Given the description of an element on the screen output the (x, y) to click on. 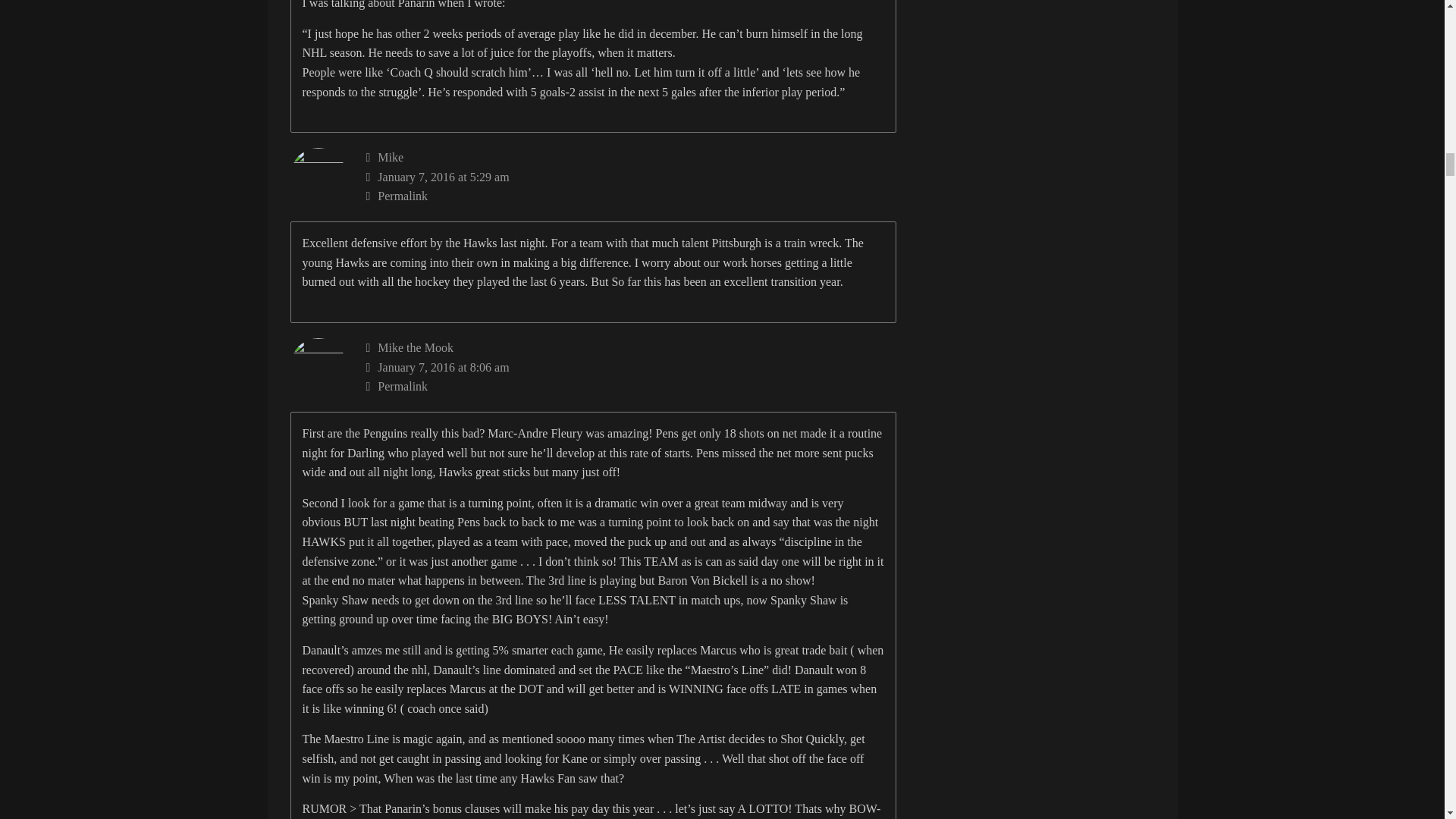
Permalink (630, 196)
Permalink (630, 386)
